Given the description of an element on the screen output the (x, y) to click on. 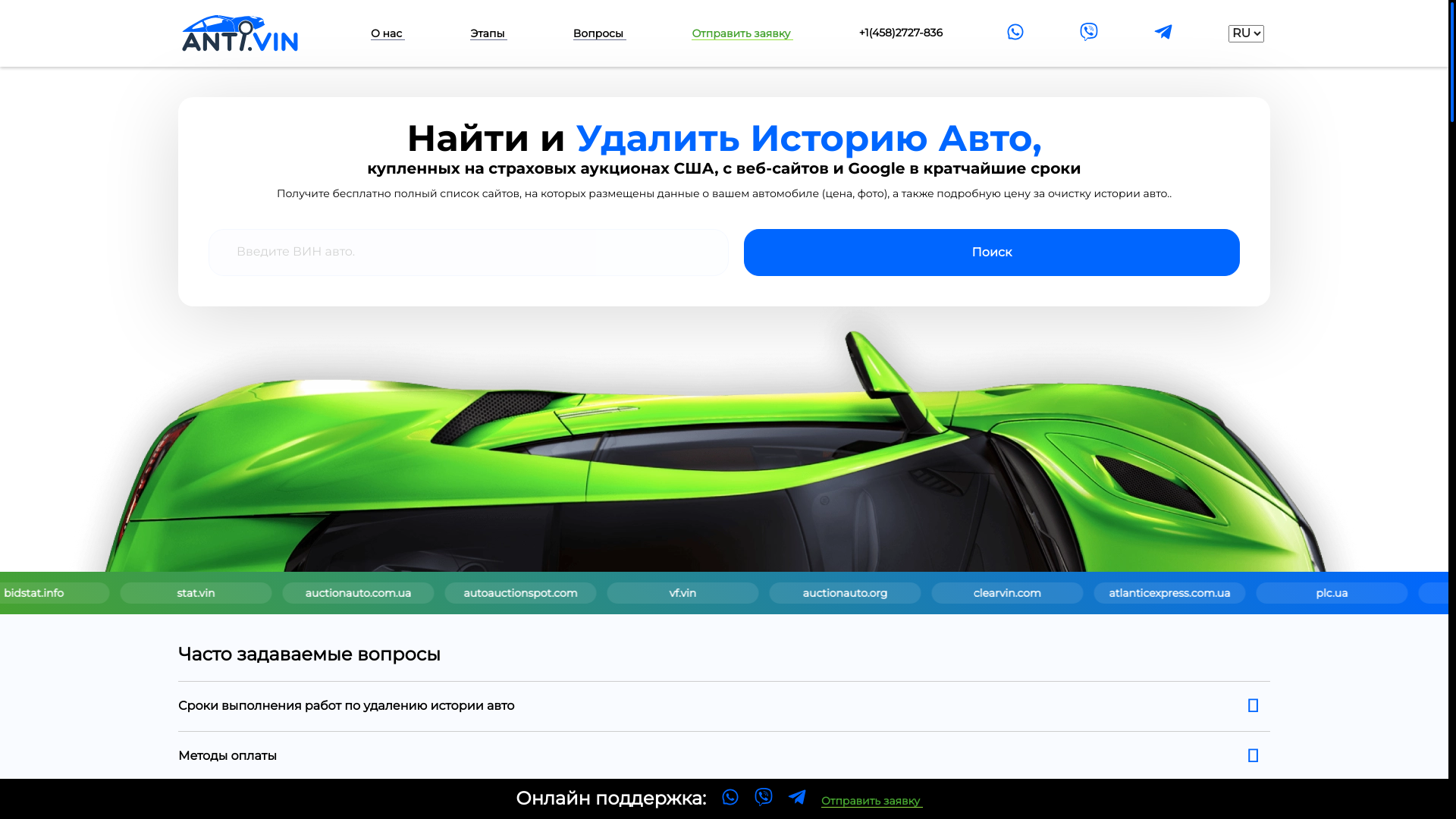
epicvin.com Element type: text (298, 592)
bidstat.info Element type: text (459, 592)
auctionauto.org Element type: text (1260, 592)
auctionauto.com.ua Element type: text (781, 592)
autoauctionspot.com Element type: text (939, 592)
+1(458)2727-836 Element type: text (900, 32)
salvagebid.com Element type: text (139, 592)
vf.vin Element type: text (1099, 592)
stat.vin Element type: text (620, 592)
clearvin.com Element type: text (1421, 592)
